Given the description of an element on the screen output the (x, y) to click on. 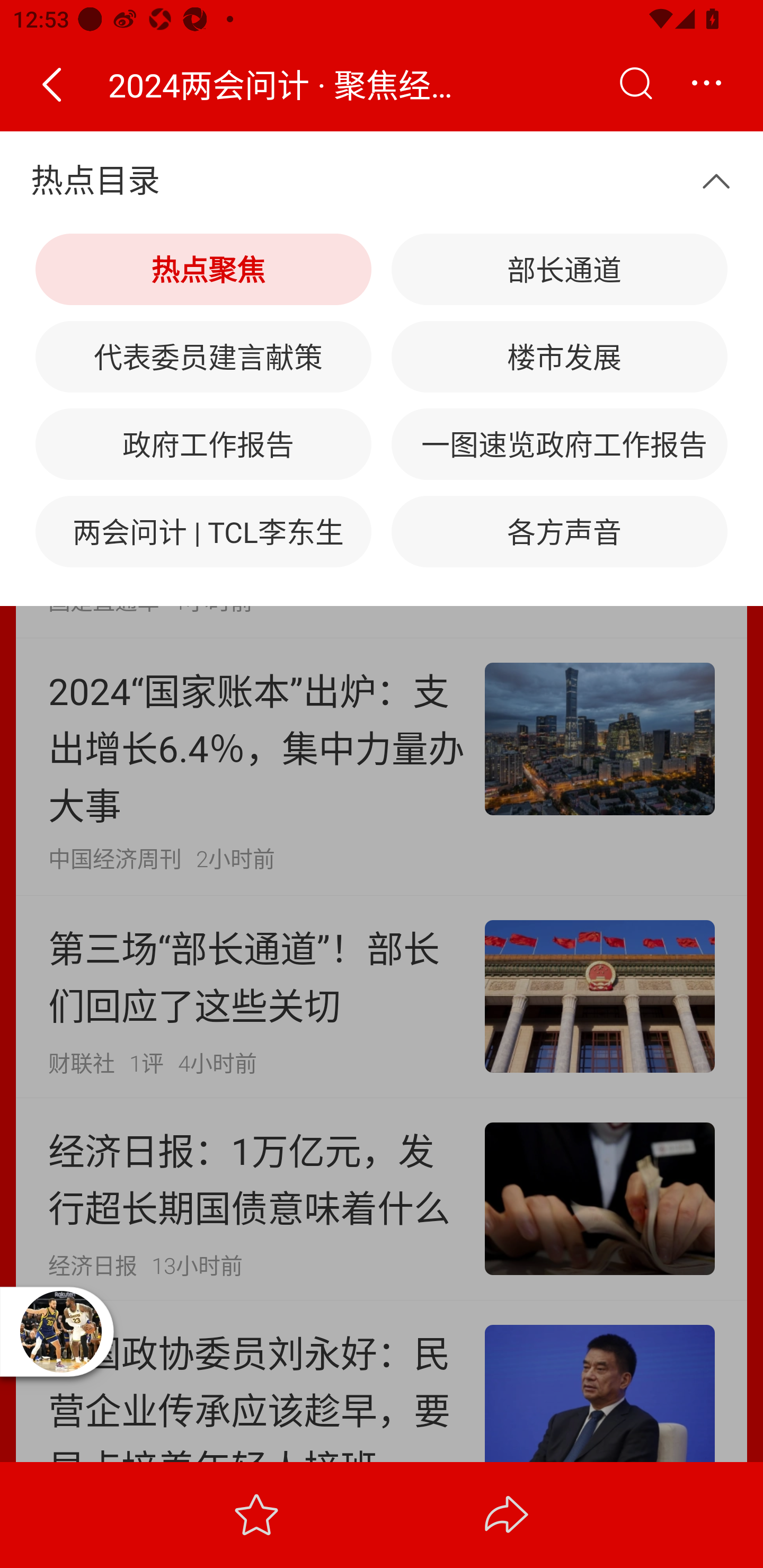
 (50, 83)
 (634, 83)
 (705, 83)
热点聚焦 (113, 181)
 (724, 181)
热点聚焦 (203, 269)
部长通道 (559, 269)
代表委员建言献策 (203, 356)
楼市发展 (559, 356)
政府工作报告 (203, 443)
一图速览政府工作报告 (559, 443)
两会问计 | TCL李东生 (203, 531)
各方声音 (559, 531)
播放器 (60, 1331)
